Given the description of an element on the screen output the (x, y) to click on. 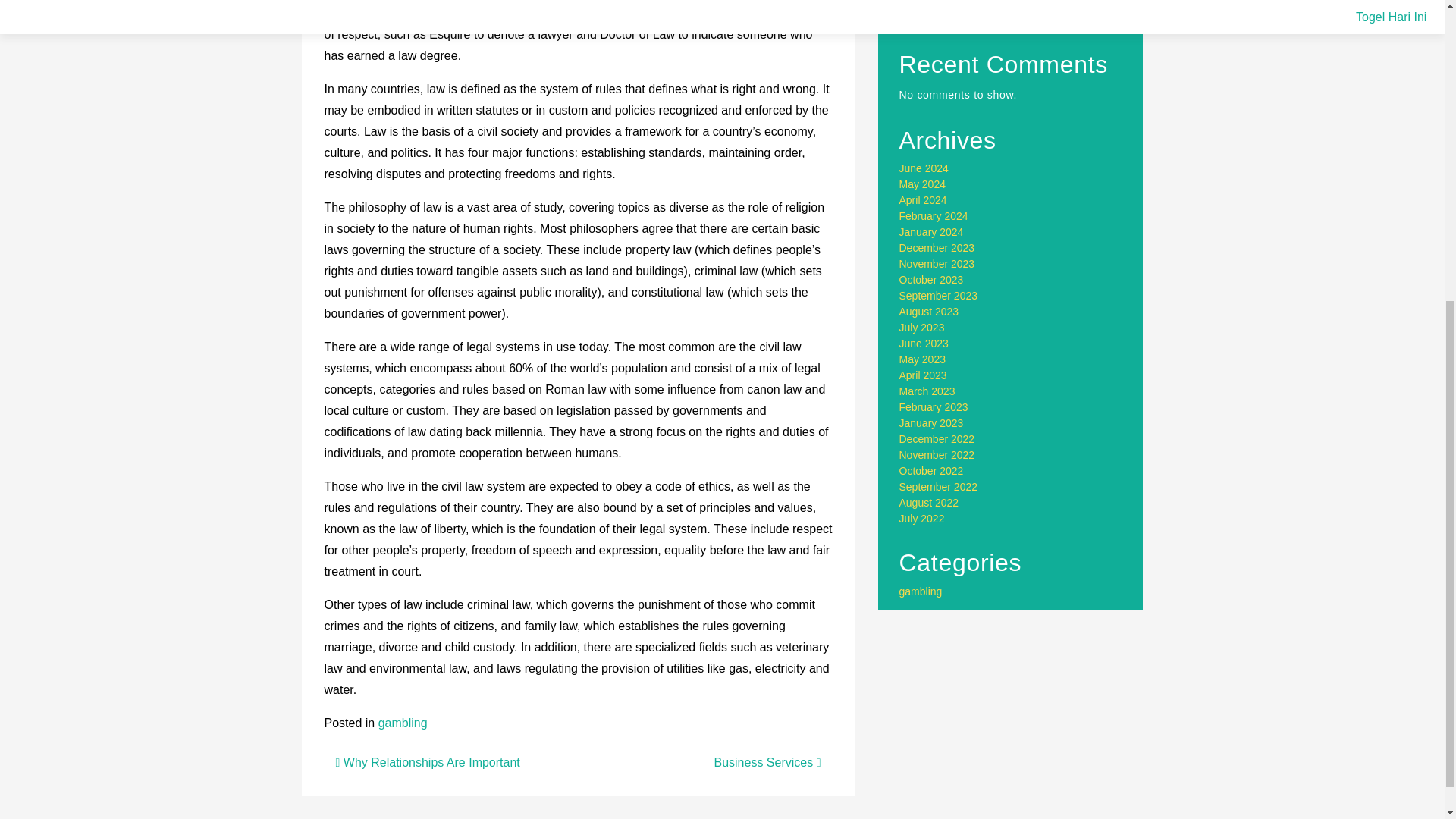
Business Services  (767, 762)
May 2024 (921, 184)
gambling (403, 722)
September 2022 (938, 486)
November 2023 (937, 263)
March 2023 (927, 390)
August 2022 (929, 502)
December 2023 (937, 247)
June 2024 (924, 168)
What Is Fashion? (940, 5)
